Given the description of an element on the screen output the (x, y) to click on. 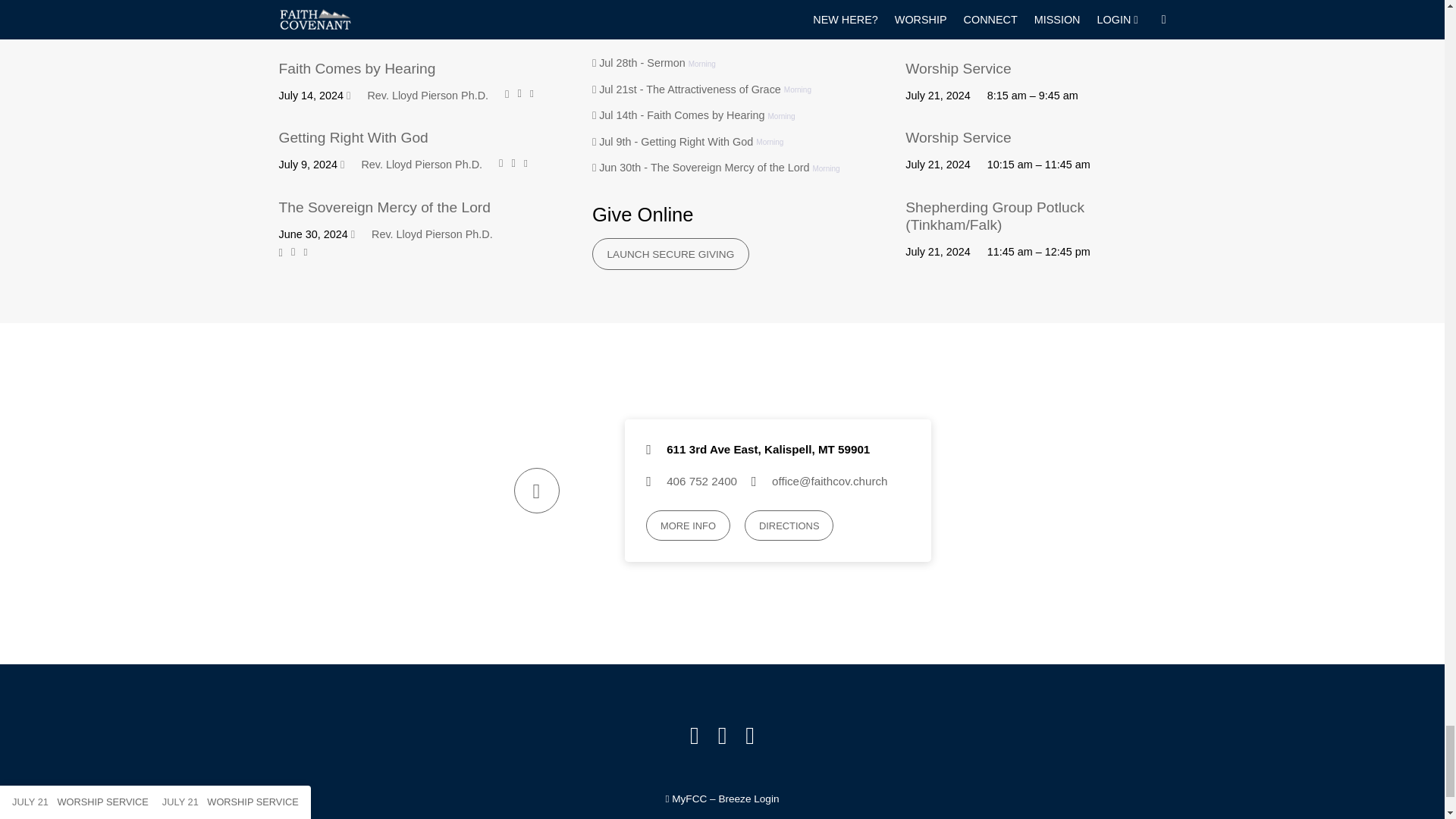
Faith Comes by Hearing (357, 68)
Getting Right With God (353, 137)
